Given the description of an element on the screen output the (x, y) to click on. 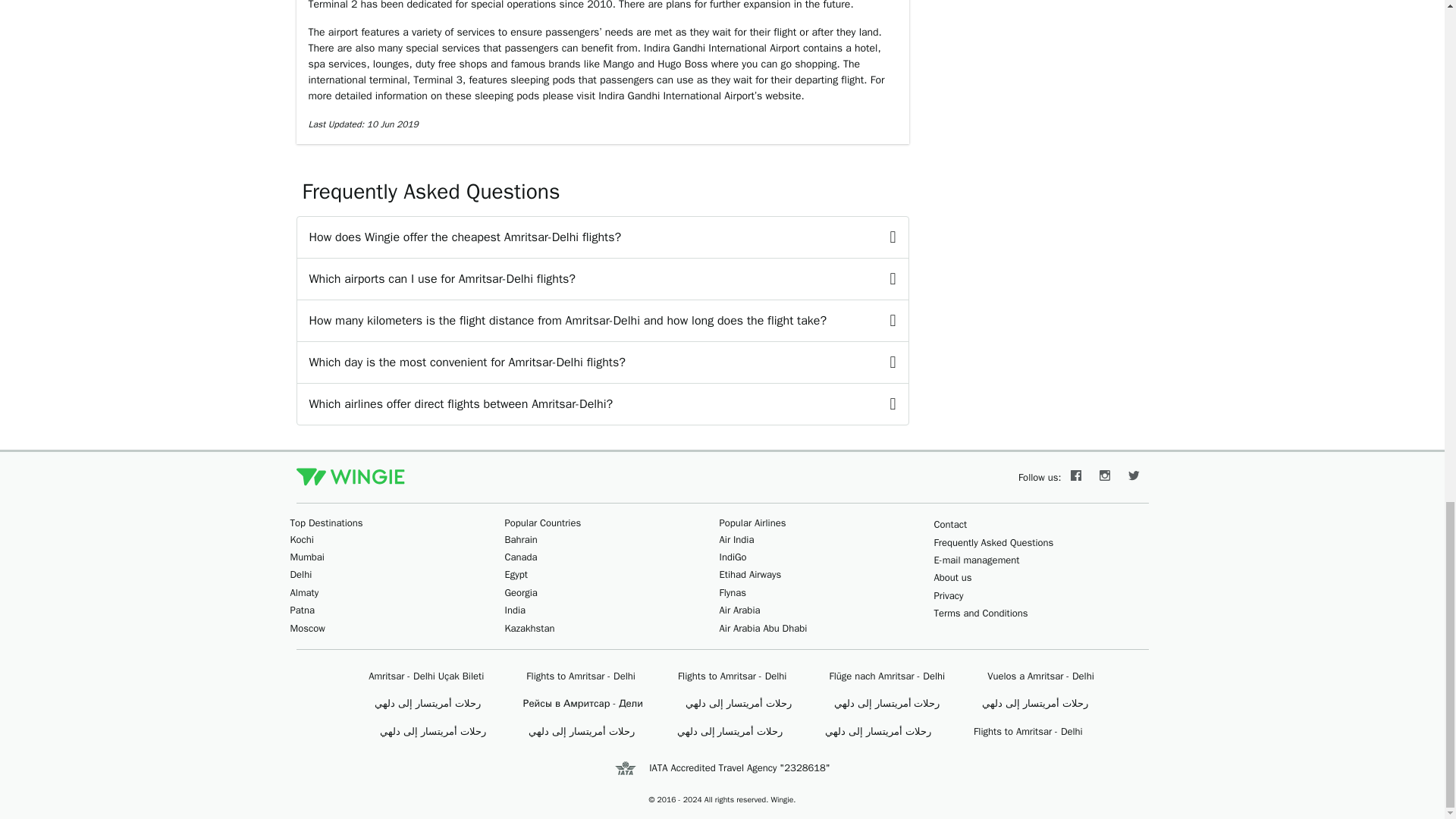
Twitter (1133, 477)
India (515, 609)
Kochi (301, 539)
Mumbai (306, 556)
Canada (521, 556)
Patna (301, 609)
Popular Countries (542, 522)
Instagram (1104, 477)
Facebook (1075, 477)
Delhi (300, 574)
Almaty (303, 592)
Georgia (521, 592)
Top Destinations (325, 522)
Kazakhstan (529, 627)
Bahrain (521, 539)
